Given the description of an element on the screen output the (x, y) to click on. 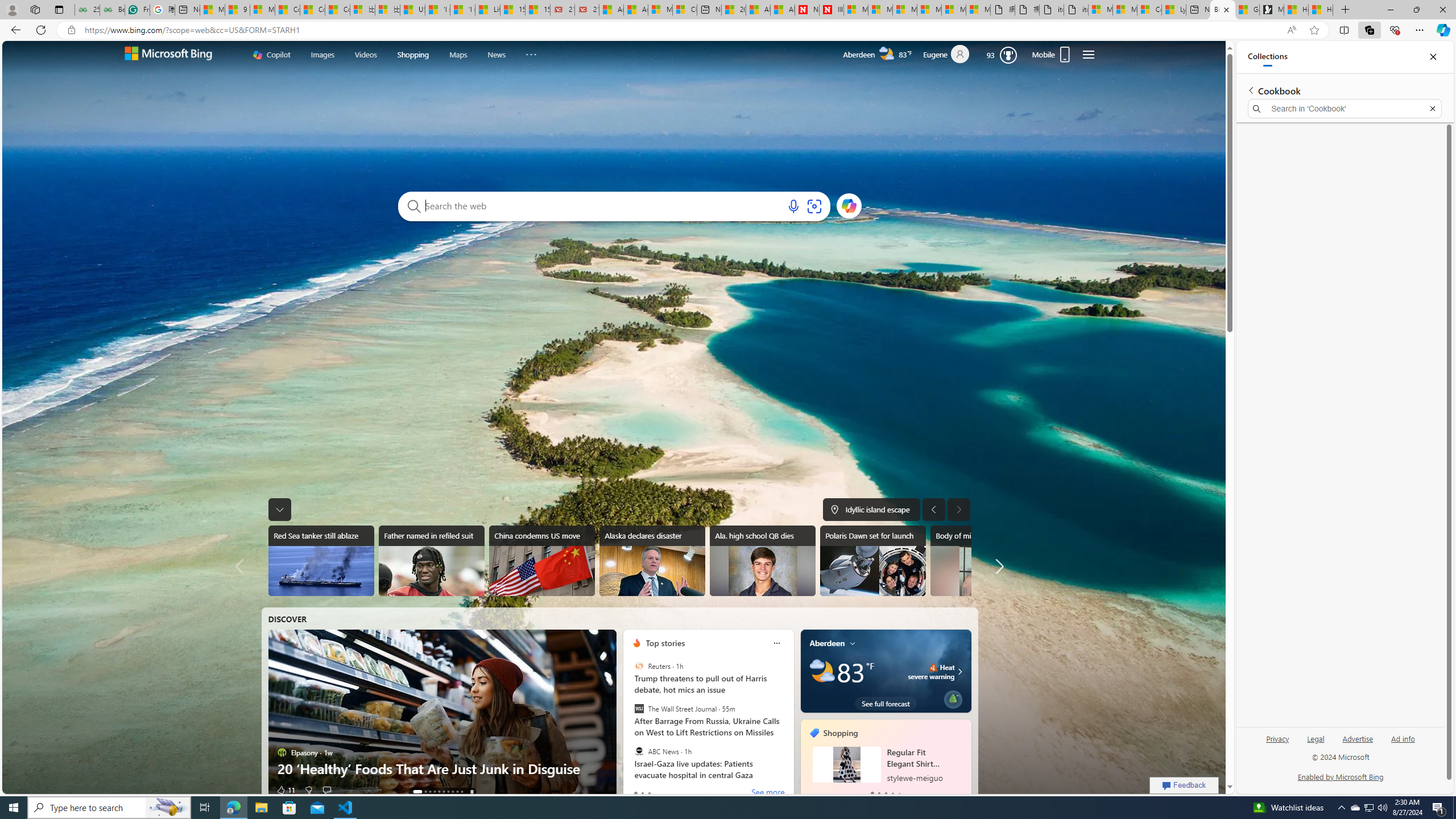
The Wall Street Journal (638, 709)
Back to list of collections (1250, 90)
View comments 34 Comment (331, 789)
ABC News (638, 750)
tab-4 (898, 793)
tab-3 (892, 793)
Click to see more information (957, 671)
The taskbar was expanded. Press to collapse taskbar (279, 508)
Heat - Severe (932, 666)
